Given the description of an element on the screen output the (x, y) to click on. 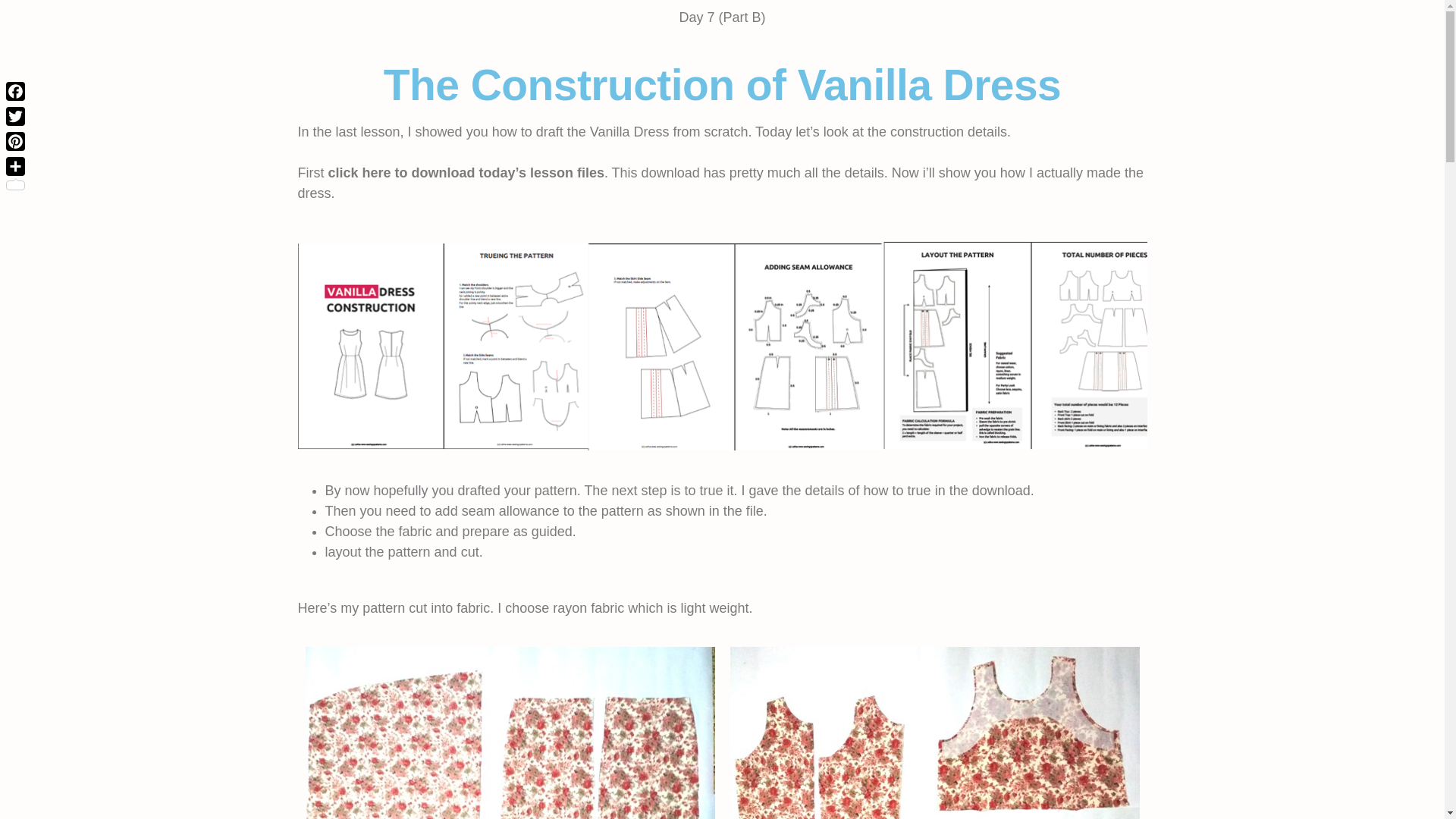
Twitter (14, 116)
Twitter (14, 116)
Pinterest (14, 140)
Facebook (14, 91)
Pinterest (14, 140)
Facebook (14, 91)
